Given the description of an element on the screen output the (x, y) to click on. 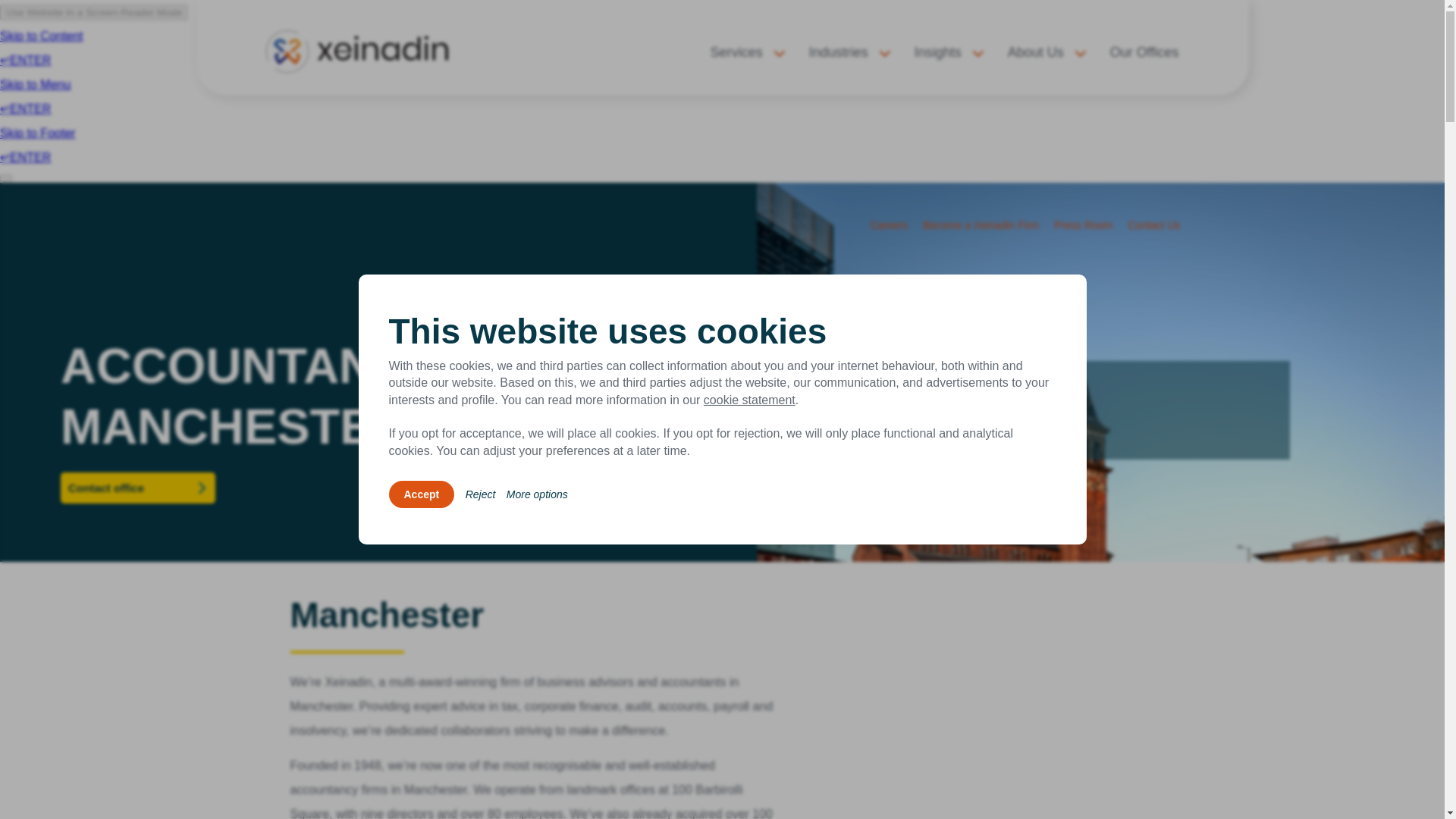
Contact Us (1152, 224)
Press Room (1083, 224)
Our Offices (1144, 52)
KJG - Xeinadin Group, Manchester, UK (991, 707)
Become a Xeinadin Firm (981, 224)
Careers (888, 224)
